Given the description of an element on the screen output the (x, y) to click on. 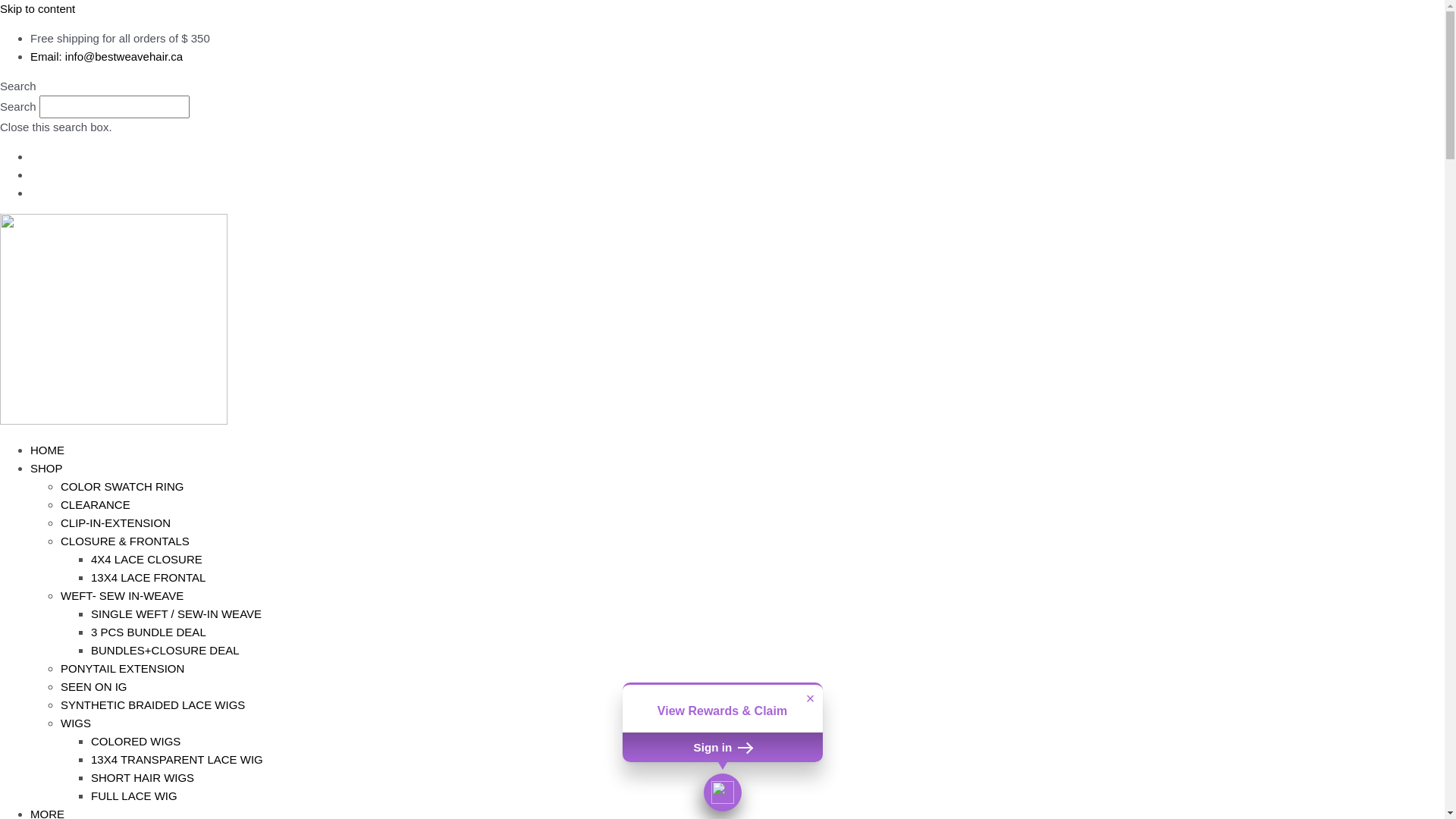
Email: info@bestweavehair.ca Element type: text (106, 56)
WEFT- SEW IN-WEAVE Element type: text (121, 595)
Skip to content Element type: text (37, 8)
SYNTHETIC BRAIDED LACE WIGS Element type: text (152, 704)
CLEARANCE Element type: text (95, 504)
COLORED WIGS Element type: text (135, 740)
WIGS Element type: text (75, 722)
13X4 LACE FRONTAL Element type: text (148, 577)
CLOSURE & FRONTALS Element type: text (124, 540)
SHORT HAIR WIGS Element type: text (142, 777)
13X4 TRANSPARENT LACE WIG Element type: text (177, 759)
SINGLE WEFT / SEW-IN WEAVE Element type: text (176, 613)
PONYTAIL EXTENSION Element type: text (122, 668)
SEEN ON IG Element type: text (93, 686)
Sign in Element type: text (721, 746)
3 PCS BUNDLE DEAL Element type: text (148, 631)
BUNDLES+CLOSURE DEAL Element type: text (164, 649)
COLOR SWATCH RING Element type: text (122, 486)
SHOP Element type: text (46, 467)
HOME Element type: text (47, 449)
CLIP-IN-EXTENSION Element type: text (115, 522)
FULL LACE WIG Element type: text (134, 795)
4X4 LACE CLOSURE Element type: text (146, 558)
